Given the description of an element on the screen output the (x, y) to click on. 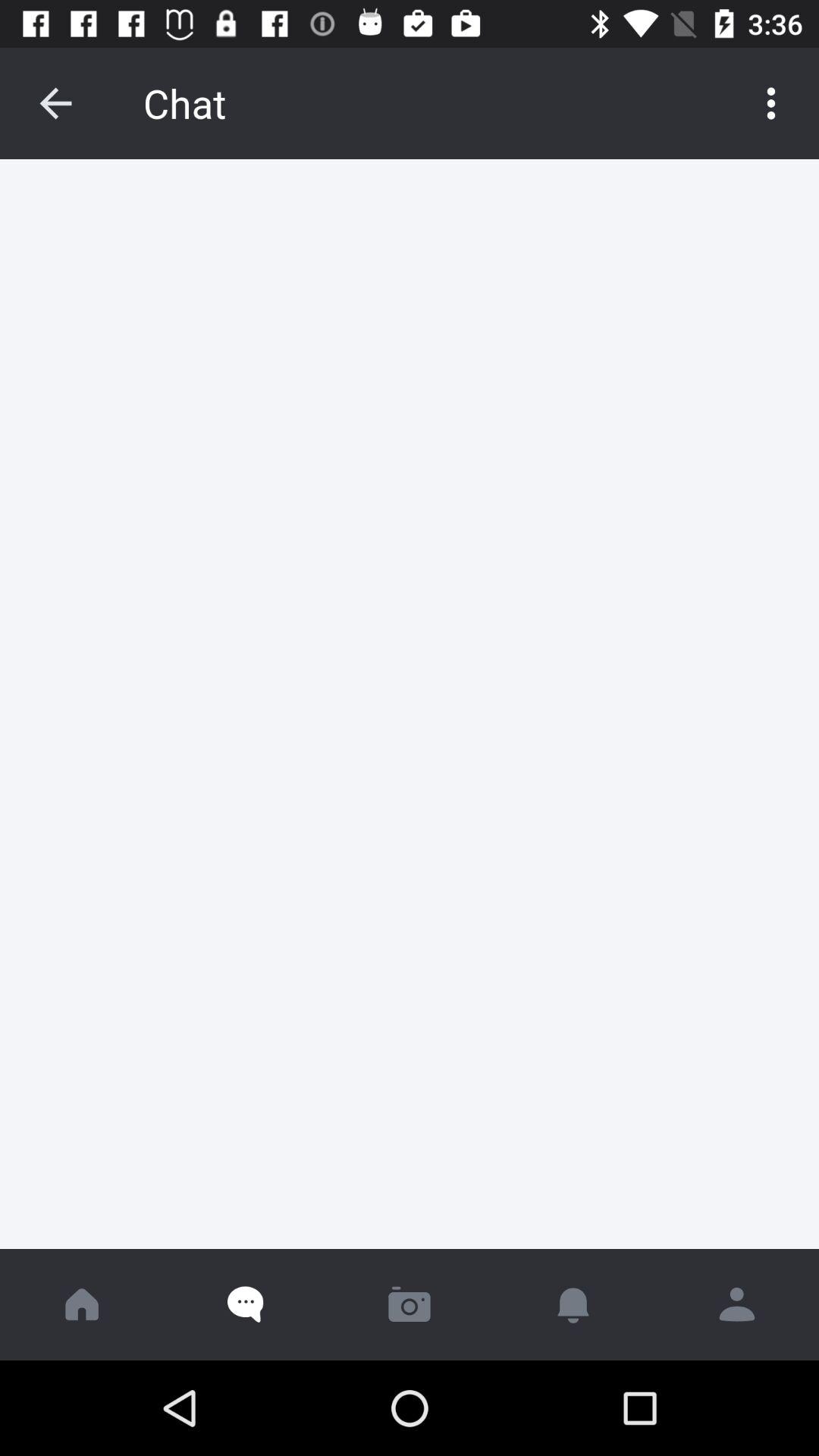
return to home screen (81, 1304)
